Given the description of an element on the screen output the (x, y) to click on. 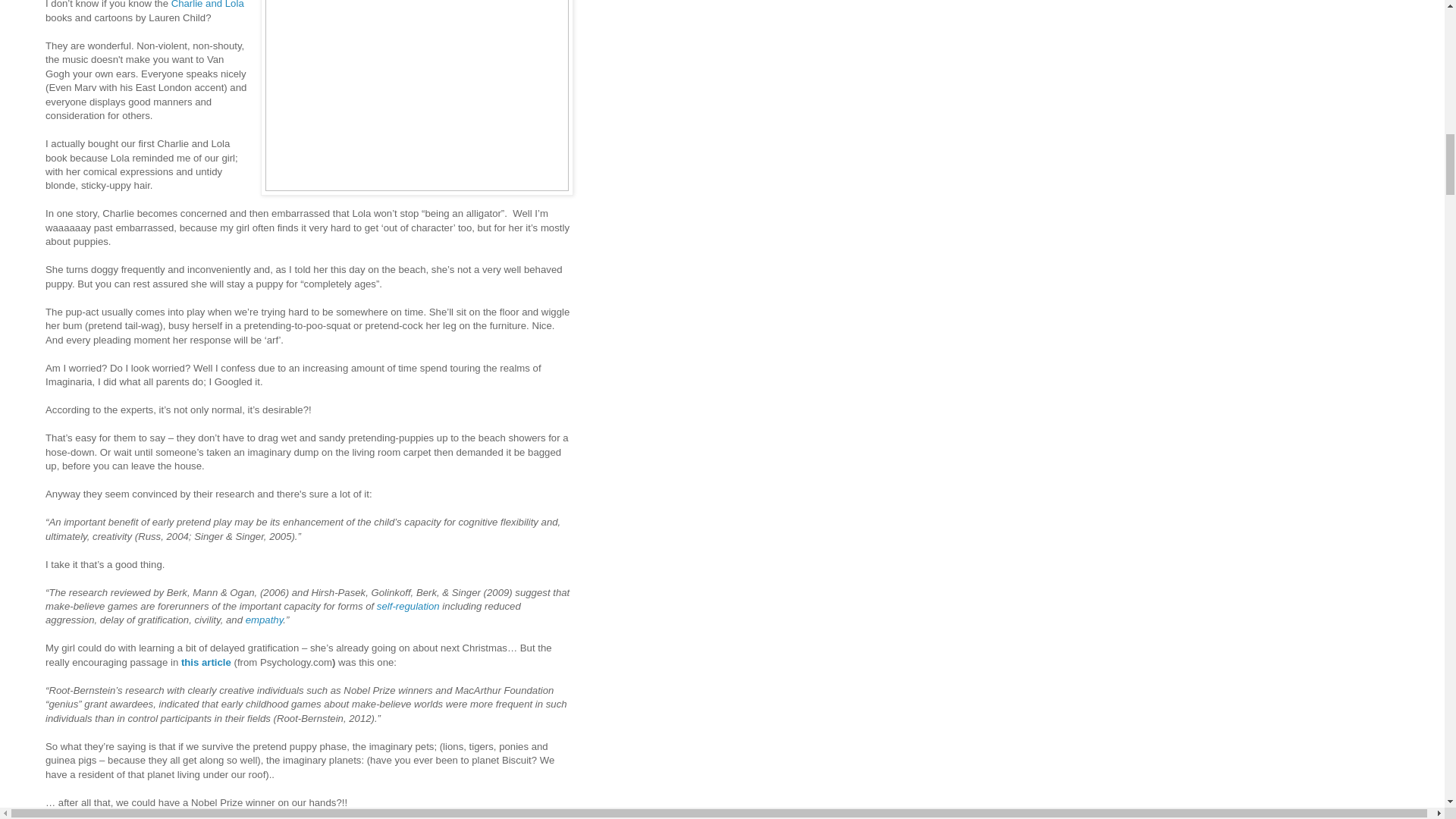
Charlie and Lola (207, 4)
empathy (264, 619)
this article (205, 662)
Psychology Today looks at Empathy  (264, 619)
Psychology Today looks at Self-Control (408, 605)
self-regulation (408, 605)
